Given the description of an element on the screen output the (x, y) to click on. 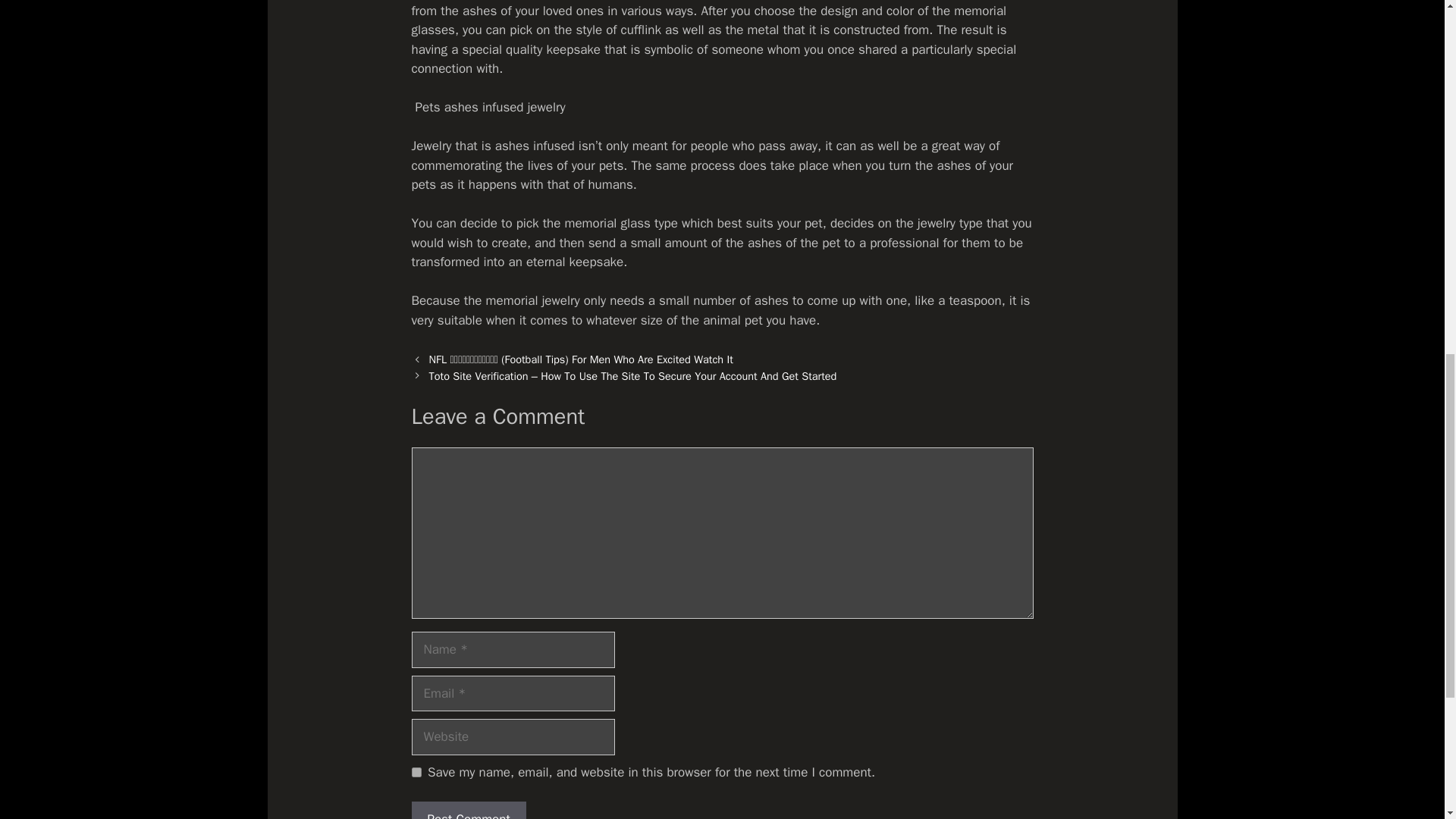
yes (415, 772)
Previous (581, 359)
Post Comment (467, 810)
Next (633, 376)
Post Comment (467, 810)
